Given the description of an element on the screen output the (x, y) to click on. 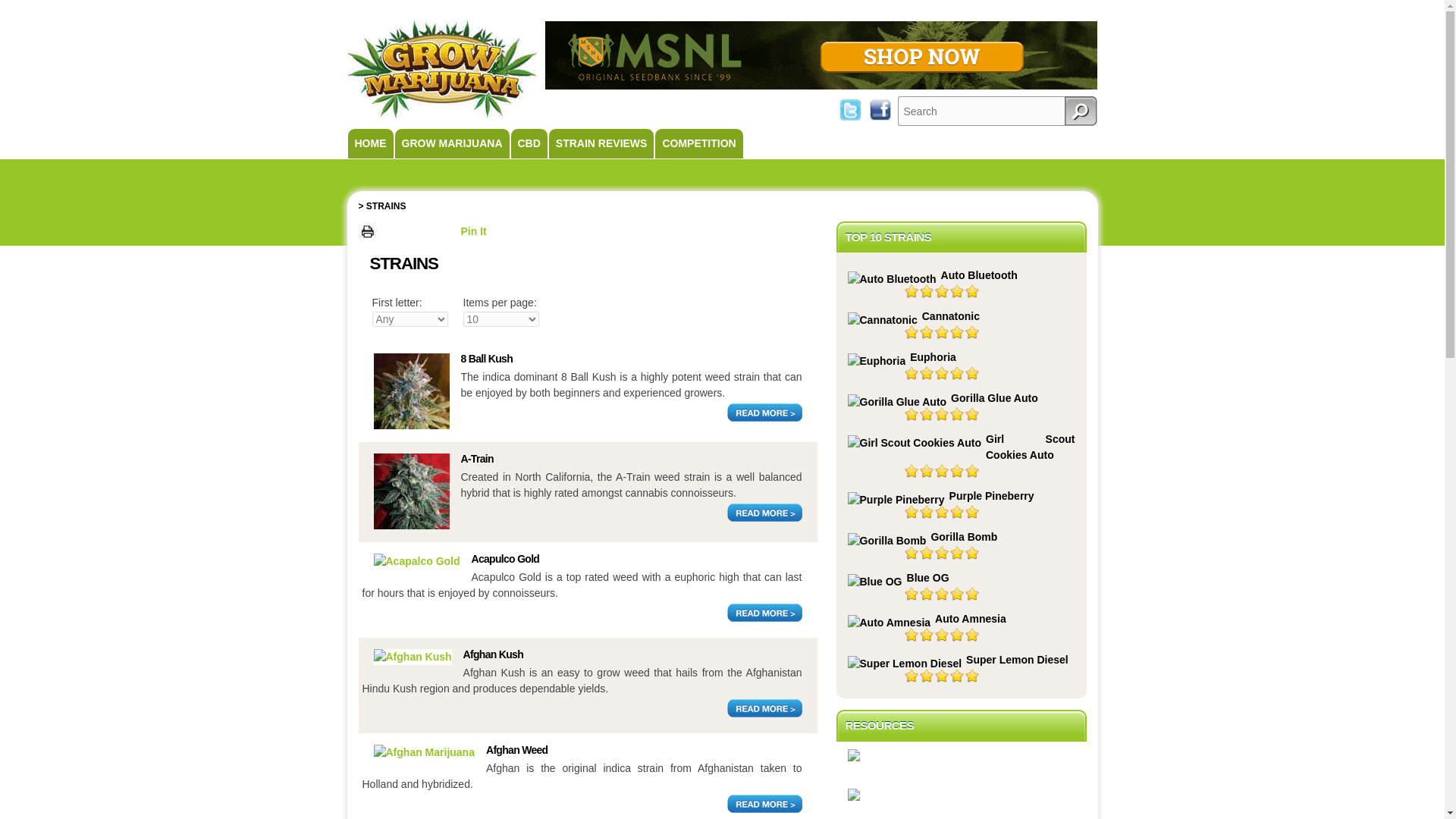
HOME (370, 142)
Read more... (764, 512)
submit (1080, 111)
Afghan Kush (492, 654)
Afghan Kush (411, 656)
submit (1080, 111)
Afghan Weed (423, 752)
GROW MARIJUANA (452, 142)
CBD (528, 142)
Afghan Weed (517, 749)
STRAIN REVIEWS (601, 142)
Read more... (764, 612)
A-Train (477, 458)
A-Train (410, 525)
Acapulco Gold (505, 558)
